Given the description of an element on the screen output the (x, y) to click on. 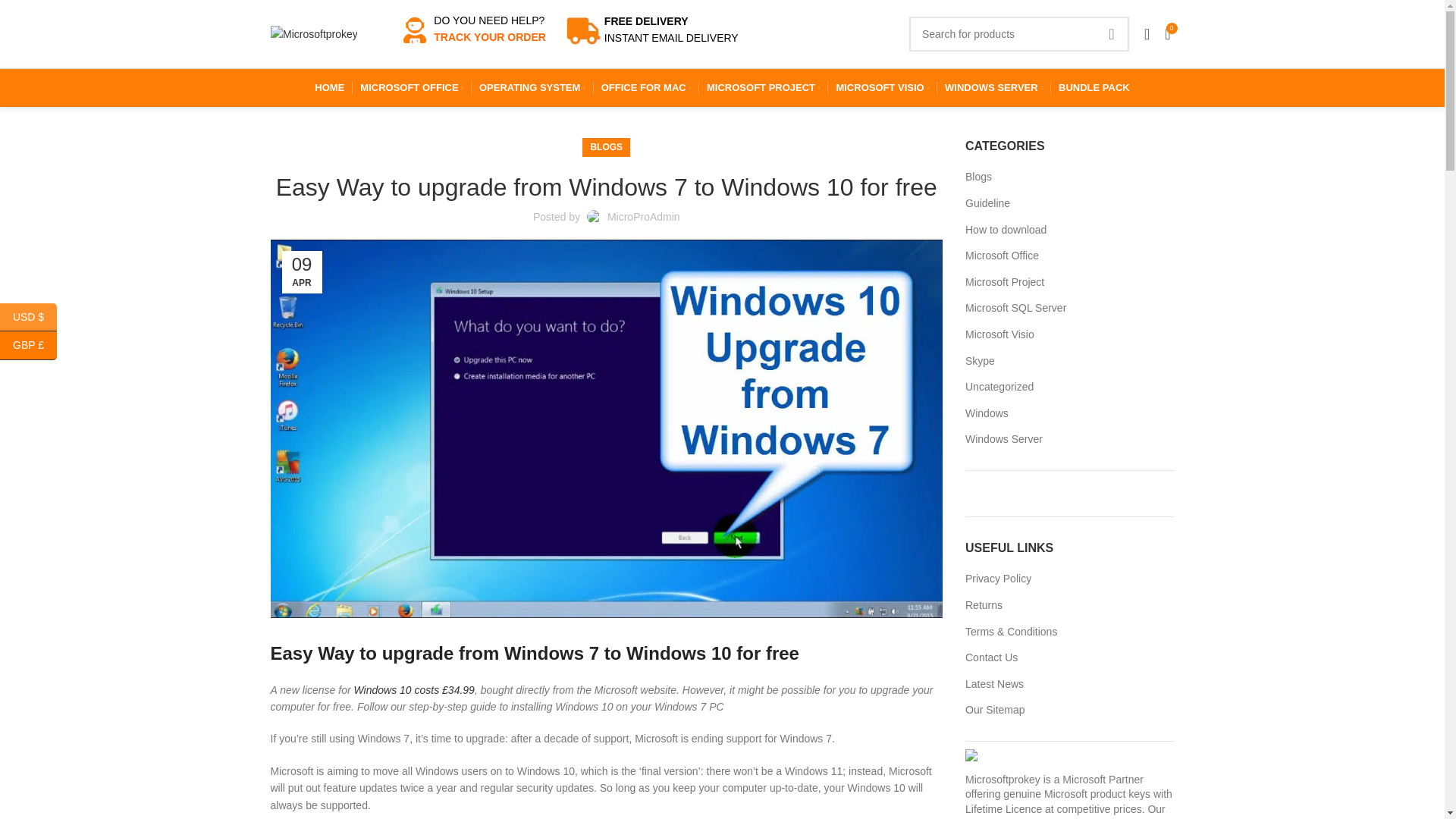
SEARCH (1111, 33)
WINDOWS SERVER (993, 87)
HOME (328, 87)
OPERATING SYSTEM (532, 87)
MICROSOFT VISIO (881, 87)
MICROSOFT OFFICE (411, 87)
MICROSOFT PROJECT (762, 87)
Search for products (1018, 33)
TRACK YOUR ORDER (489, 37)
OFFICE FOR MAC (645, 87)
